Given the description of an element on the screen output the (x, y) to click on. 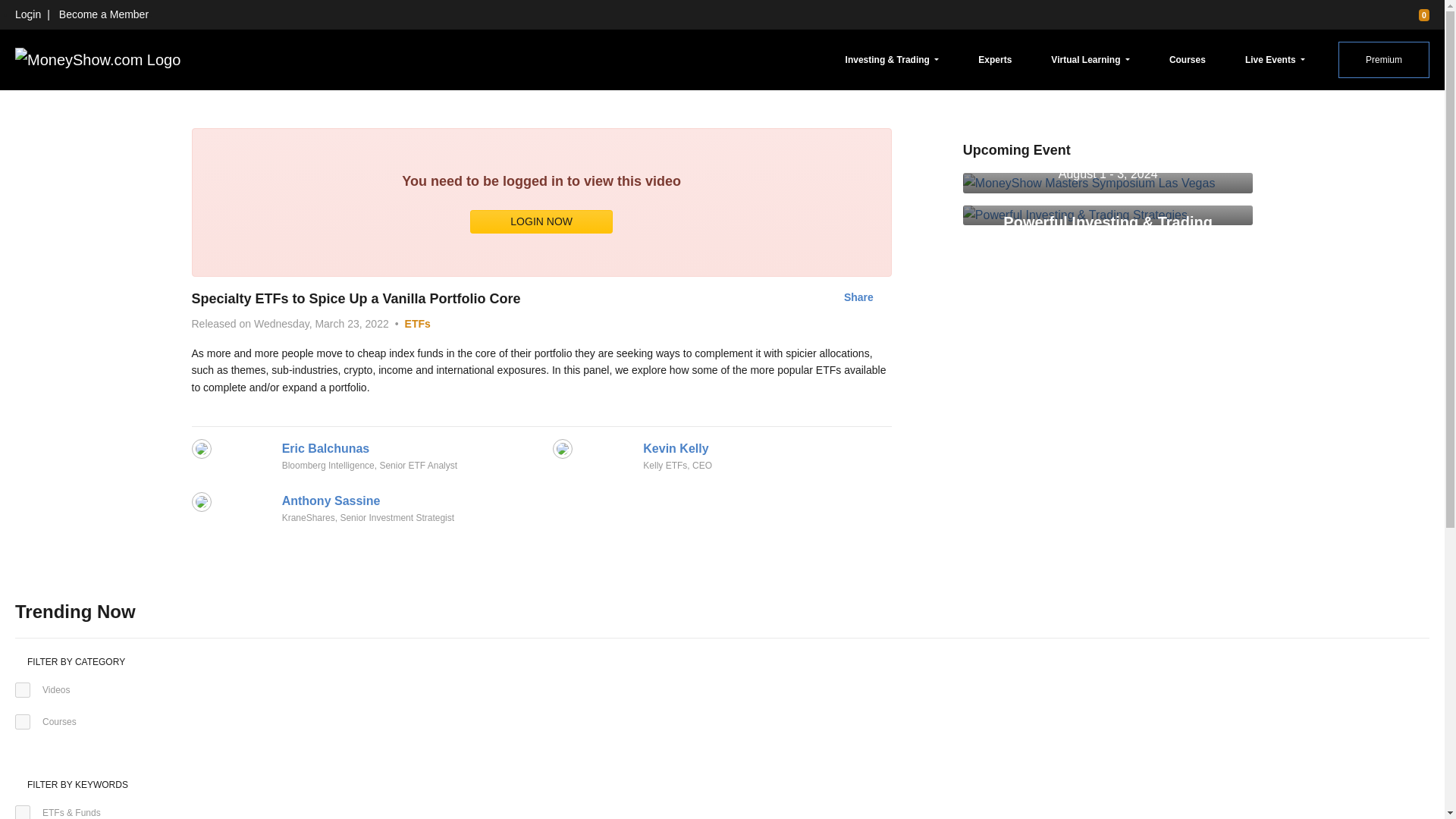
Courses (22, 721)
Eric Balchunas (325, 447)
ETFs (417, 323)
0 (1416, 14)
Videos (22, 689)
Share (858, 297)
Courses (1187, 59)
Login (27, 14)
Become a Member (103, 14)
Premium (1383, 59)
Live Events (1275, 59)
Virtual Learning (1090, 59)
LOGIN NOW (541, 221)
Experts (994, 59)
